Given the description of an element on the screen output the (x, y) to click on. 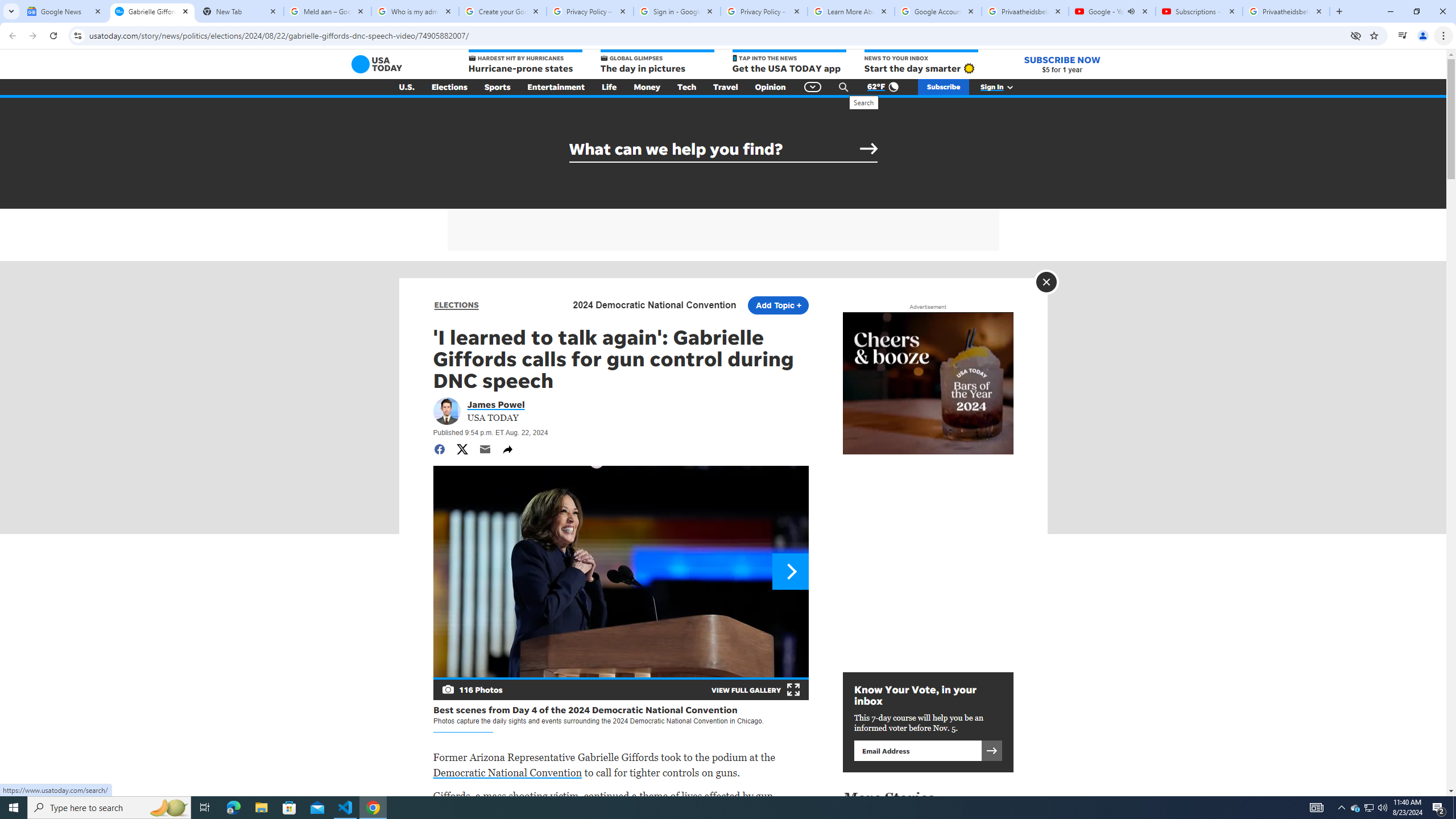
New Tab (239, 11)
ELECTIONS (456, 304)
Add Topic (777, 305)
USA TODAY (376, 64)
Share to Twitter (461, 449)
Life (609, 87)
Share by email (484, 449)
